Given the description of an element on the screen output the (x, y) to click on. 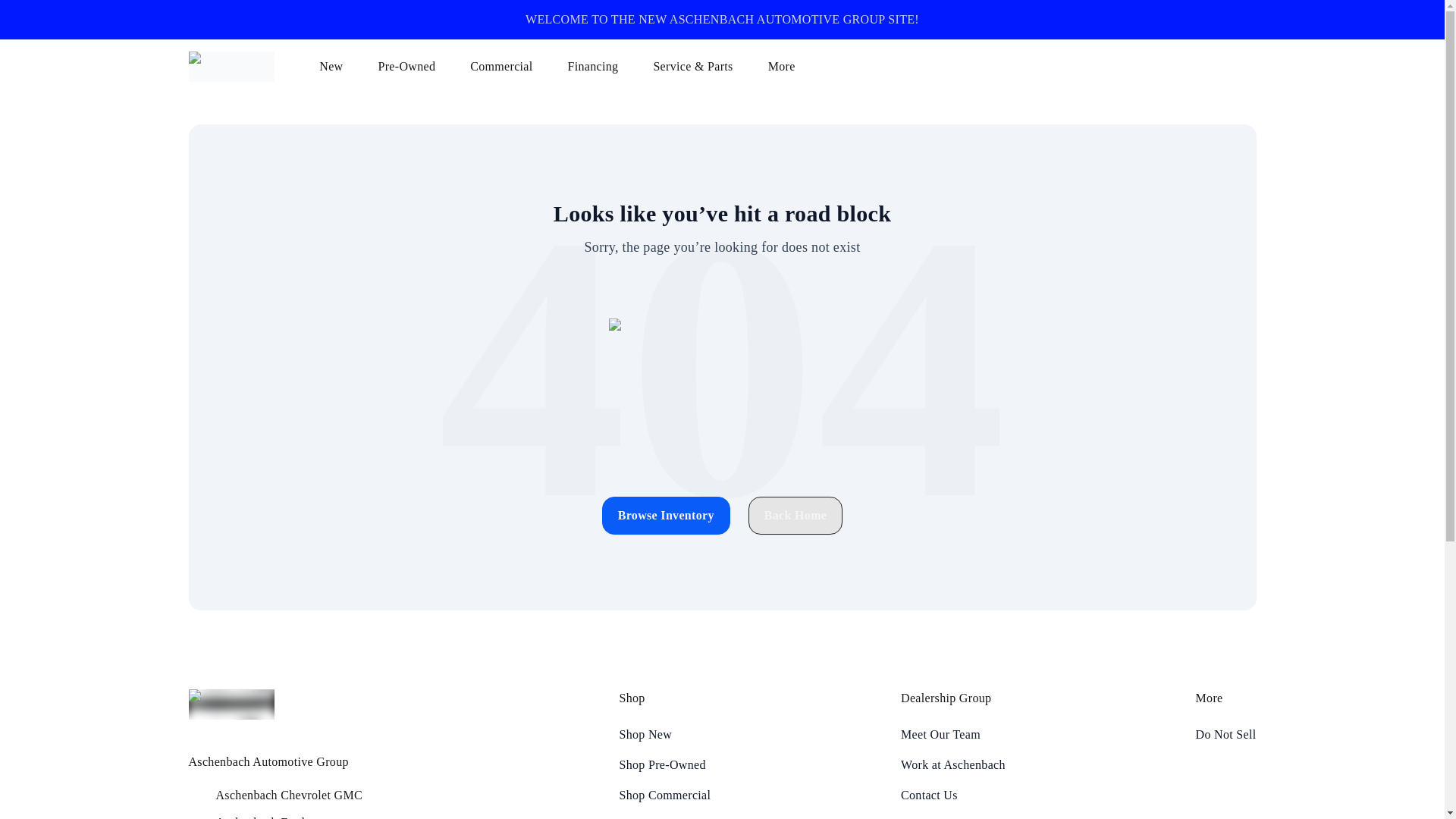
Meet Our Team (953, 734)
Shop Pre-Owned (664, 764)
Back Home (795, 515)
Shop New (664, 734)
More (789, 66)
Commercial (508, 66)
Financing (600, 66)
Shop Commercial (664, 795)
Do Not Sell (1225, 734)
Browse Inventory (666, 515)
Contact Us (953, 795)
Work at Aschenbach (953, 764)
New (338, 66)
Pre-Owned (413, 66)
